Given the description of an element on the screen output the (x, y) to click on. 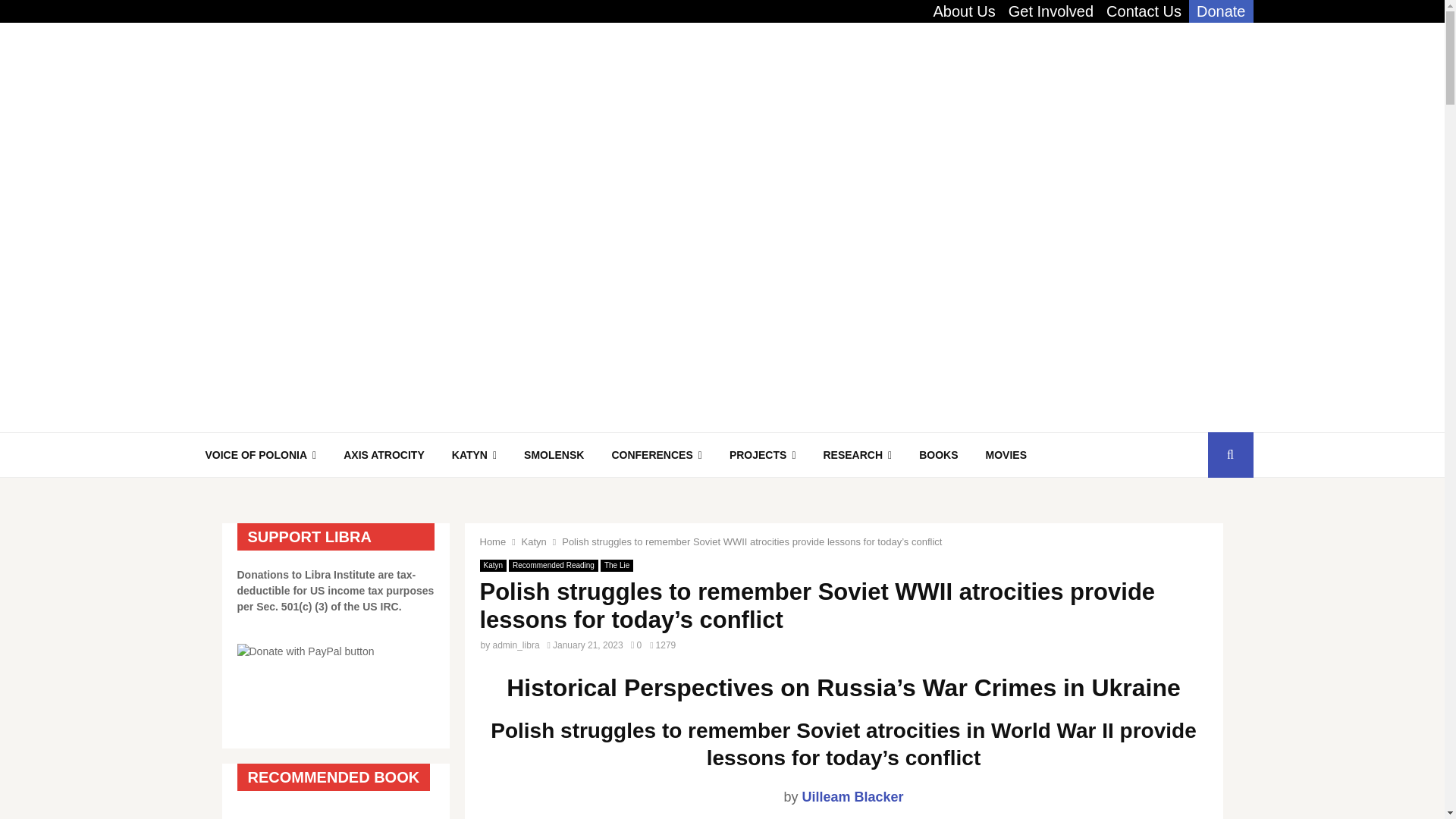
CONFERENCES (655, 454)
KATYN (474, 454)
PayPal - The safer, easier way to pay online! (304, 651)
BOOKS (938, 454)
Contact Us (1143, 11)
SMOLENSK (553, 454)
VOICE OF POLONIA (260, 454)
About Us (963, 11)
Donate (1221, 11)
Get Involved (1051, 11)
RESEARCH (857, 454)
PROJECTS (762, 454)
AXIS ATROCITY (384, 454)
